Given the description of an element on the screen output the (x, y) to click on. 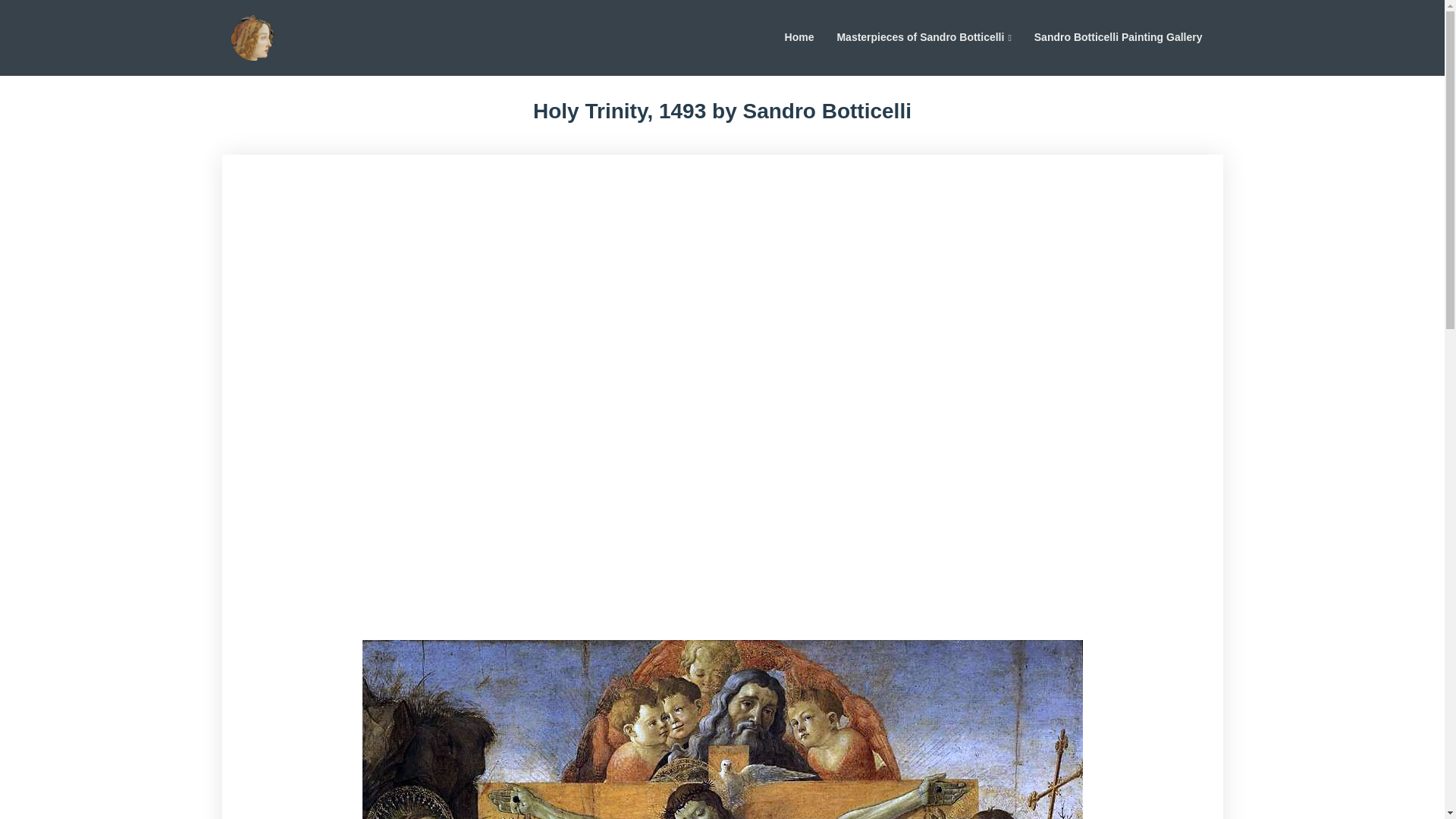
Sandro Botticelli Painting Gallery (1118, 37)
Masterpieces of Sandro Botticelli (923, 37)
Home (799, 37)
Home (799, 37)
